Given the description of an element on the screen output the (x, y) to click on. 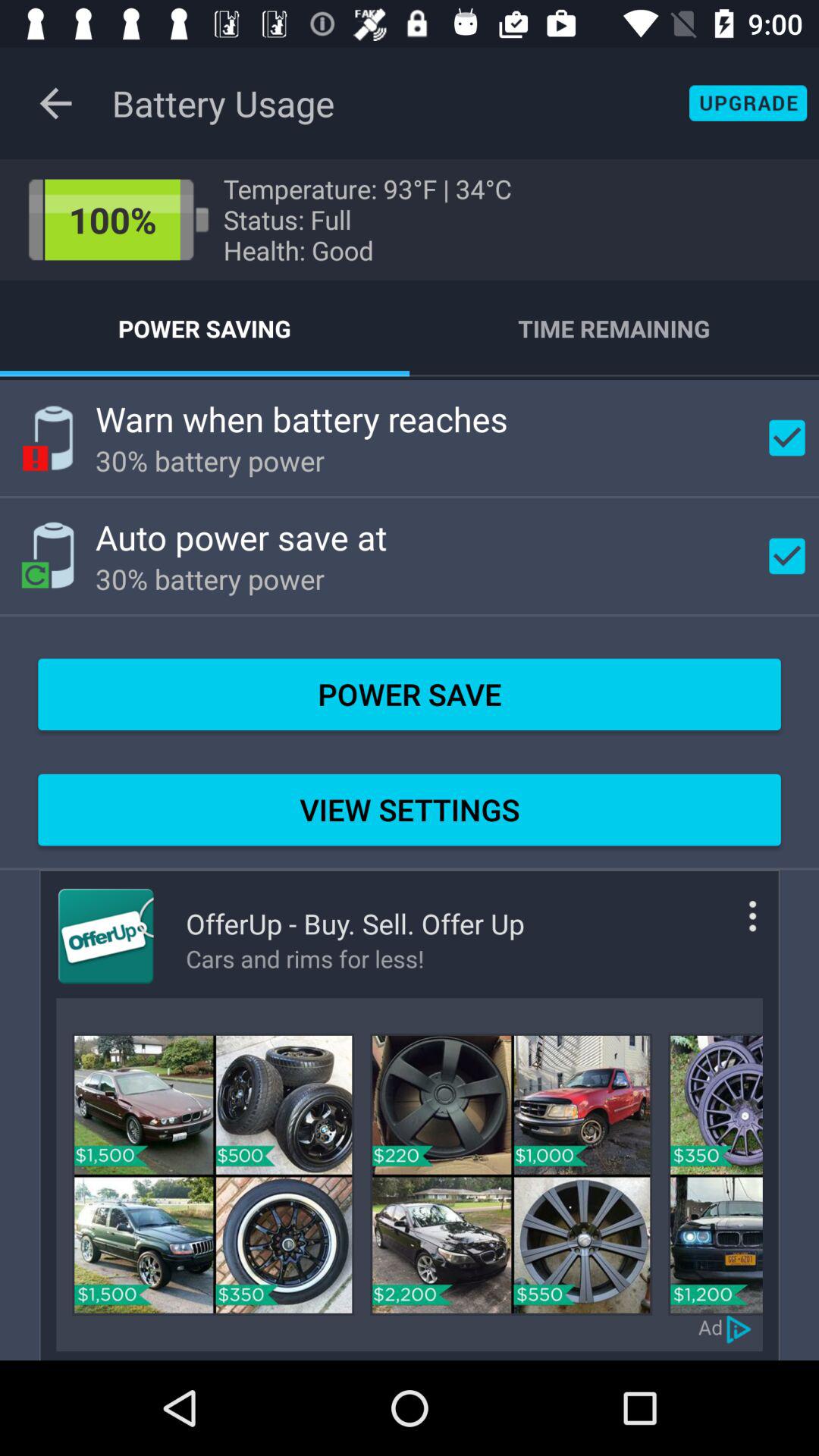
select an icon (511, 1174)
